Given the description of an element on the screen output the (x, y) to click on. 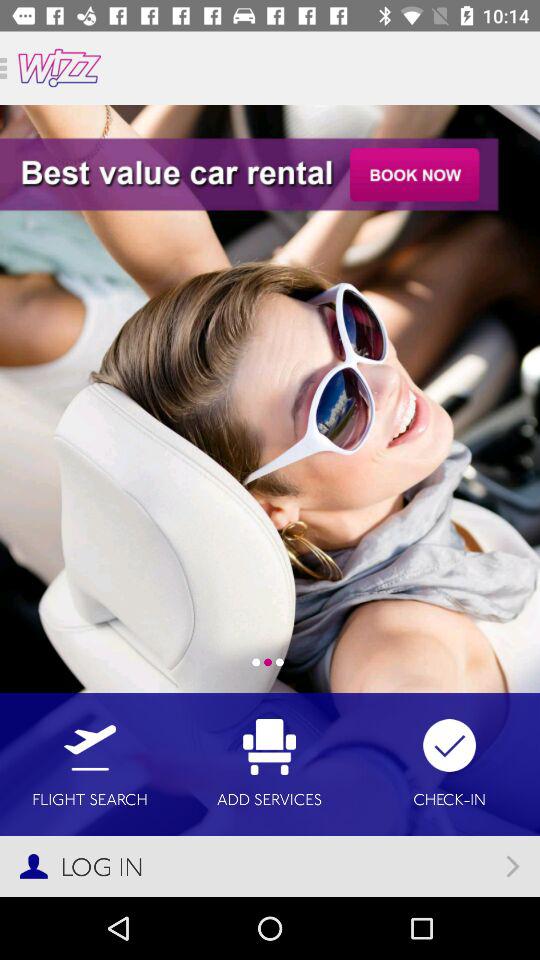
launch item next to the add services (449, 764)
